Given the description of an element on the screen output the (x, y) to click on. 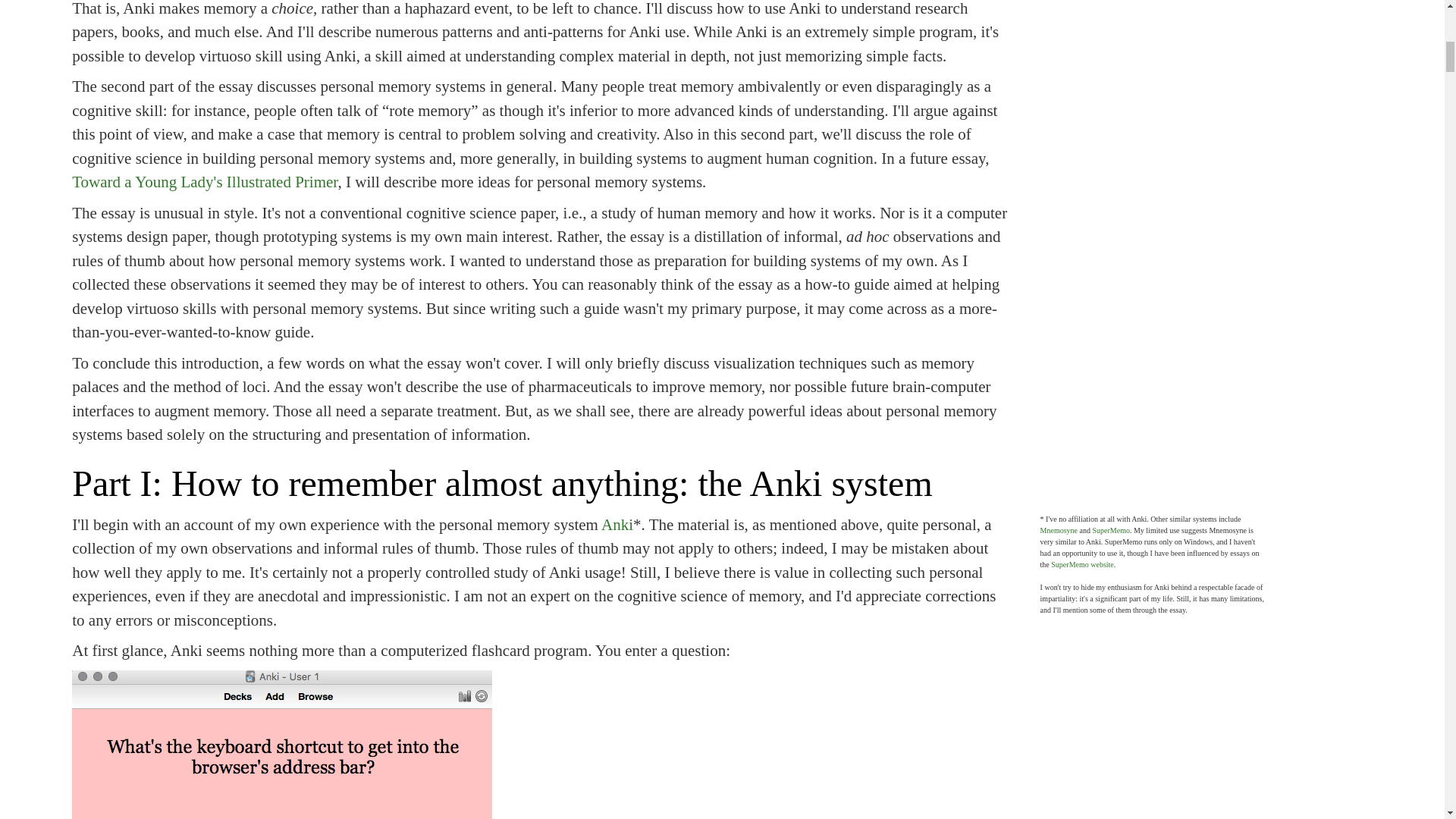
Mnemosyne (1059, 530)
SuperMemo (1110, 530)
Anki (617, 524)
Toward a Young Lady's Illustrated Primer (204, 181)
SuperMemo website (1082, 564)
